Given the description of an element on the screen output the (x, y) to click on. 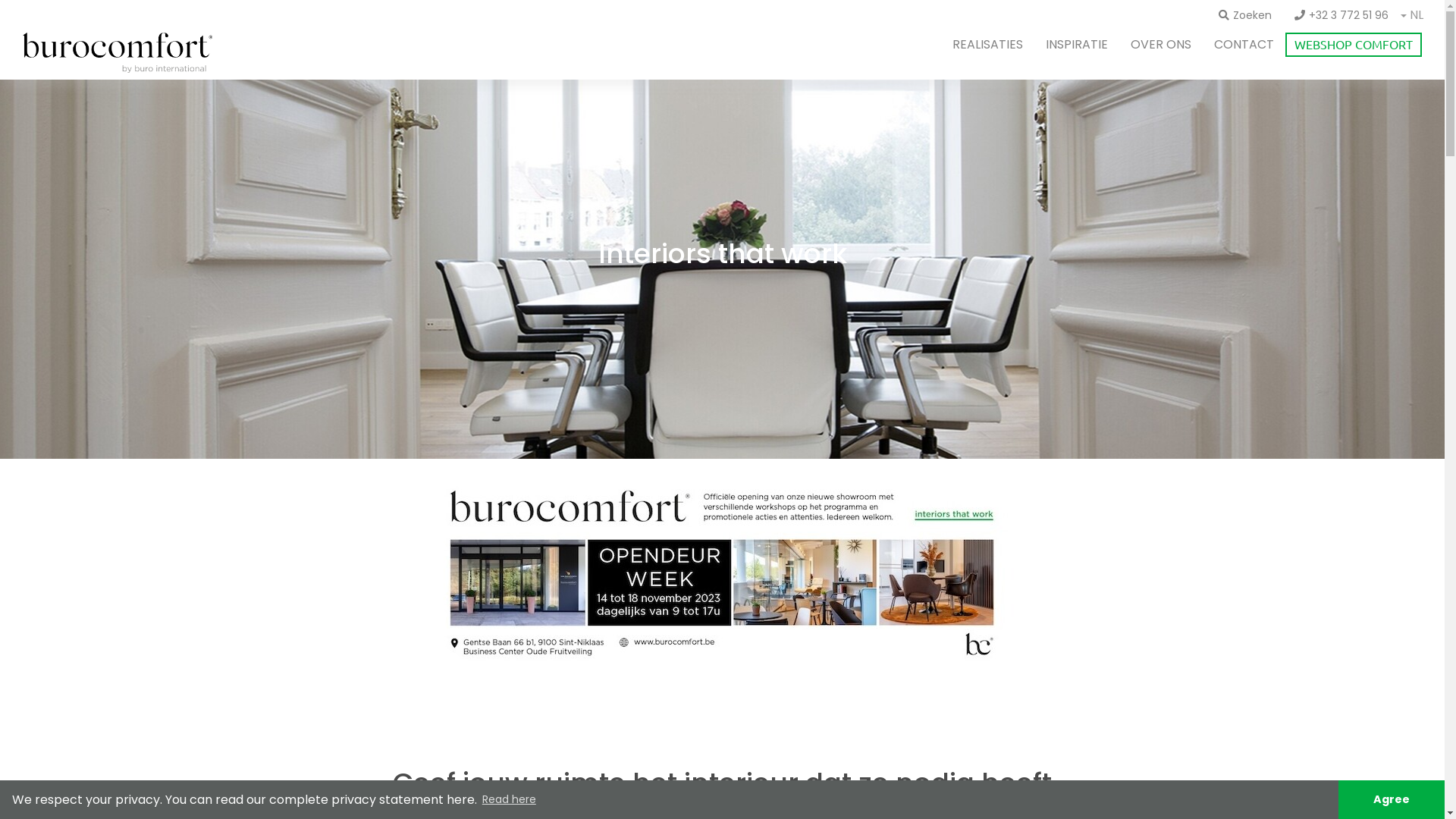
logo-buro Element type: hover (117, 52)
CONTACT Element type: text (1243, 44)
+32 3 772 51 96 Element type: text (1341, 15)
Zoeken Element type: text (1245, 15)
NL Element type: text (1416, 16)
REALISATIES Element type: text (987, 44)
Read here Element type: text (509, 799)
INSPIRATIE Element type: text (1076, 44)
WEBSHOP COMFORT Element type: text (1353, 44)
OVER ONS Element type: text (1160, 44)
